Given the description of an element on the screen output the (x, y) to click on. 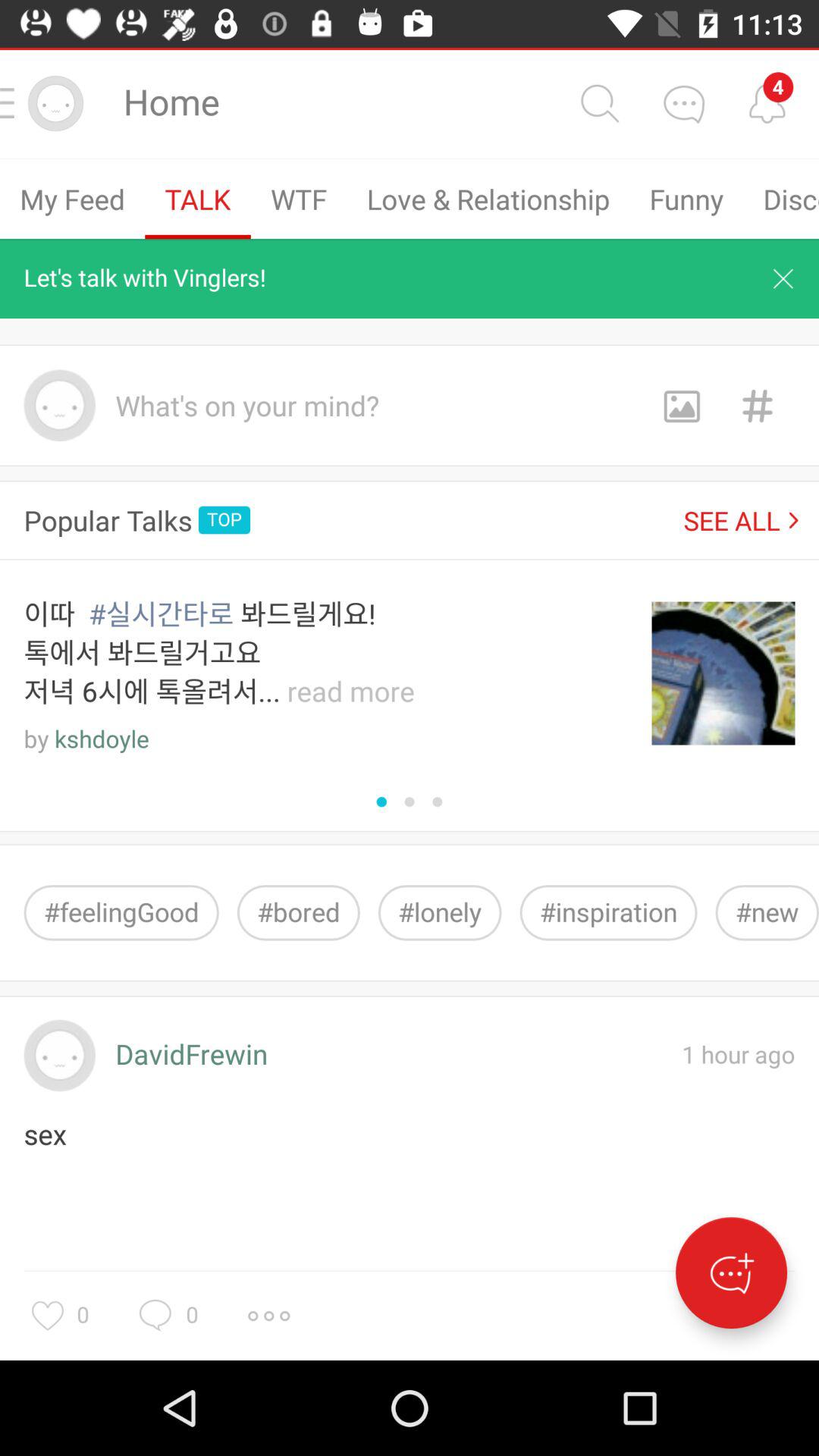
post picture (681, 405)
